Given the description of an element on the screen output the (x, y) to click on. 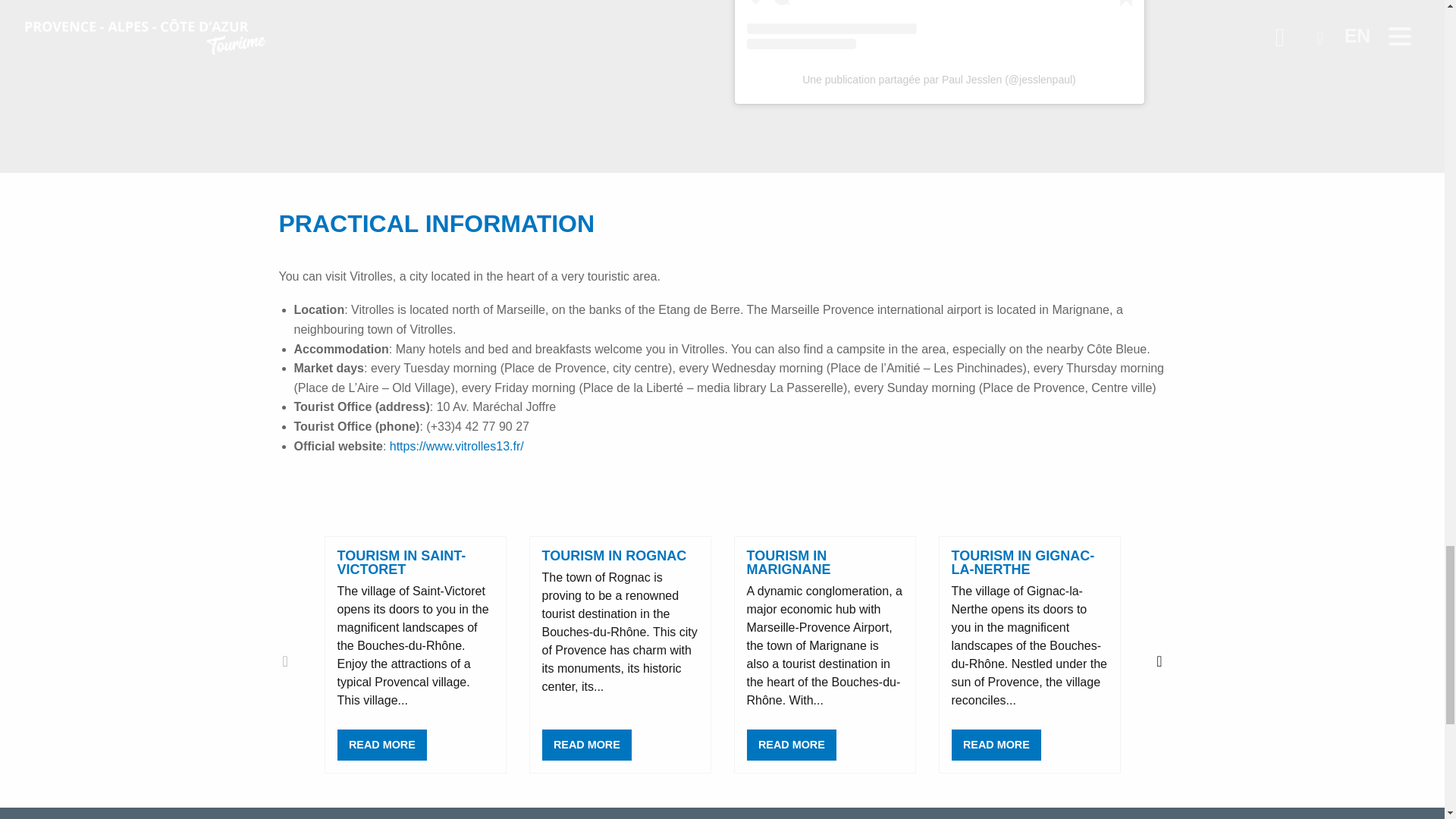
Voir cette publication sur Instagram (938, 24)
